Given the description of an element on the screen output the (x, y) to click on. 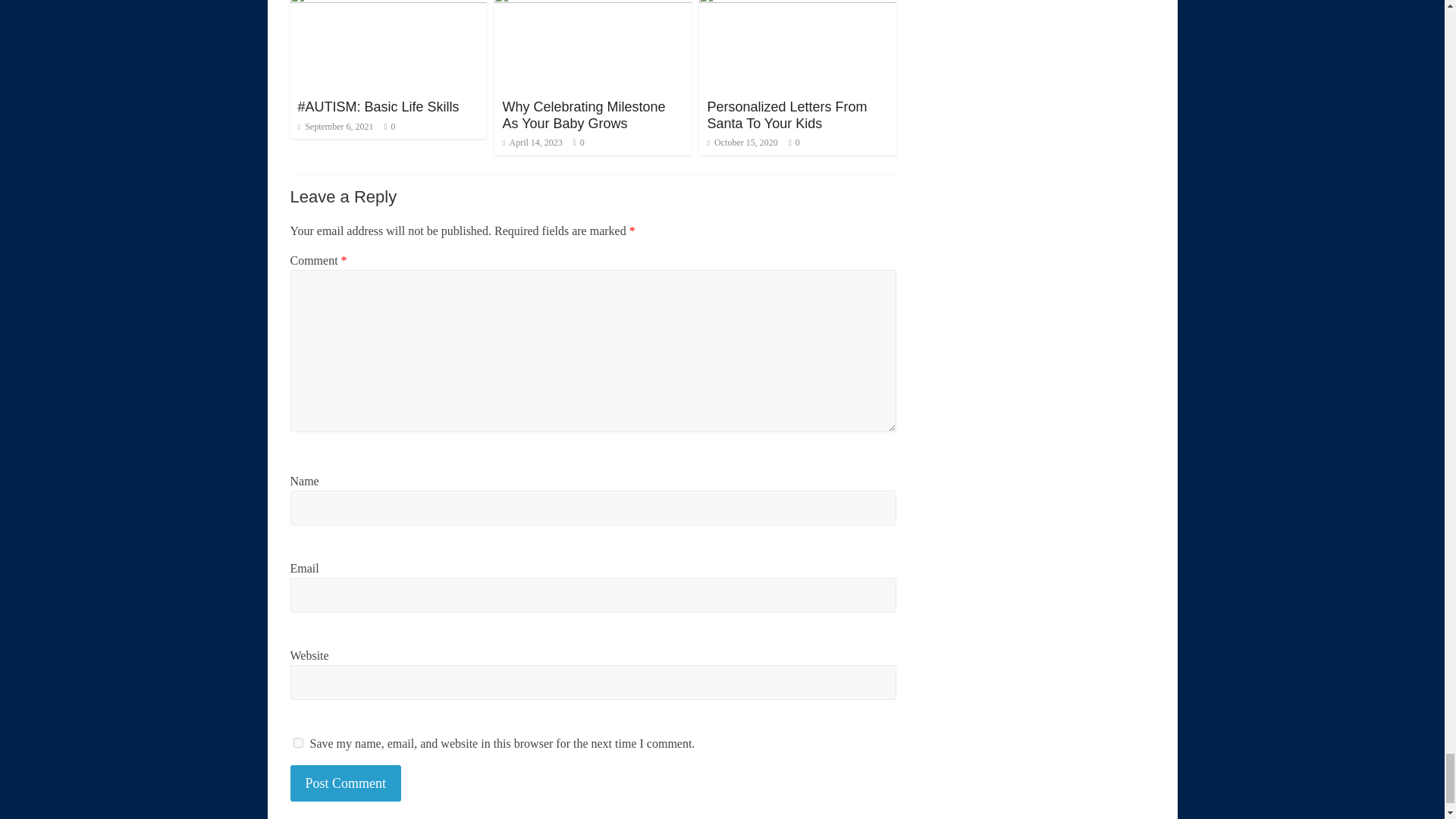
Why Celebrating Milestone As Your Baby Grows (593, 2)
Post Comment (345, 783)
7:16 am (334, 126)
Why Celebrating Milestone As Your Baby Grows (583, 115)
7:20 pm (532, 142)
yes (297, 742)
Personalized Letters From Santa To Your Kids (797, 2)
